Given the description of an element on the screen output the (x, y) to click on. 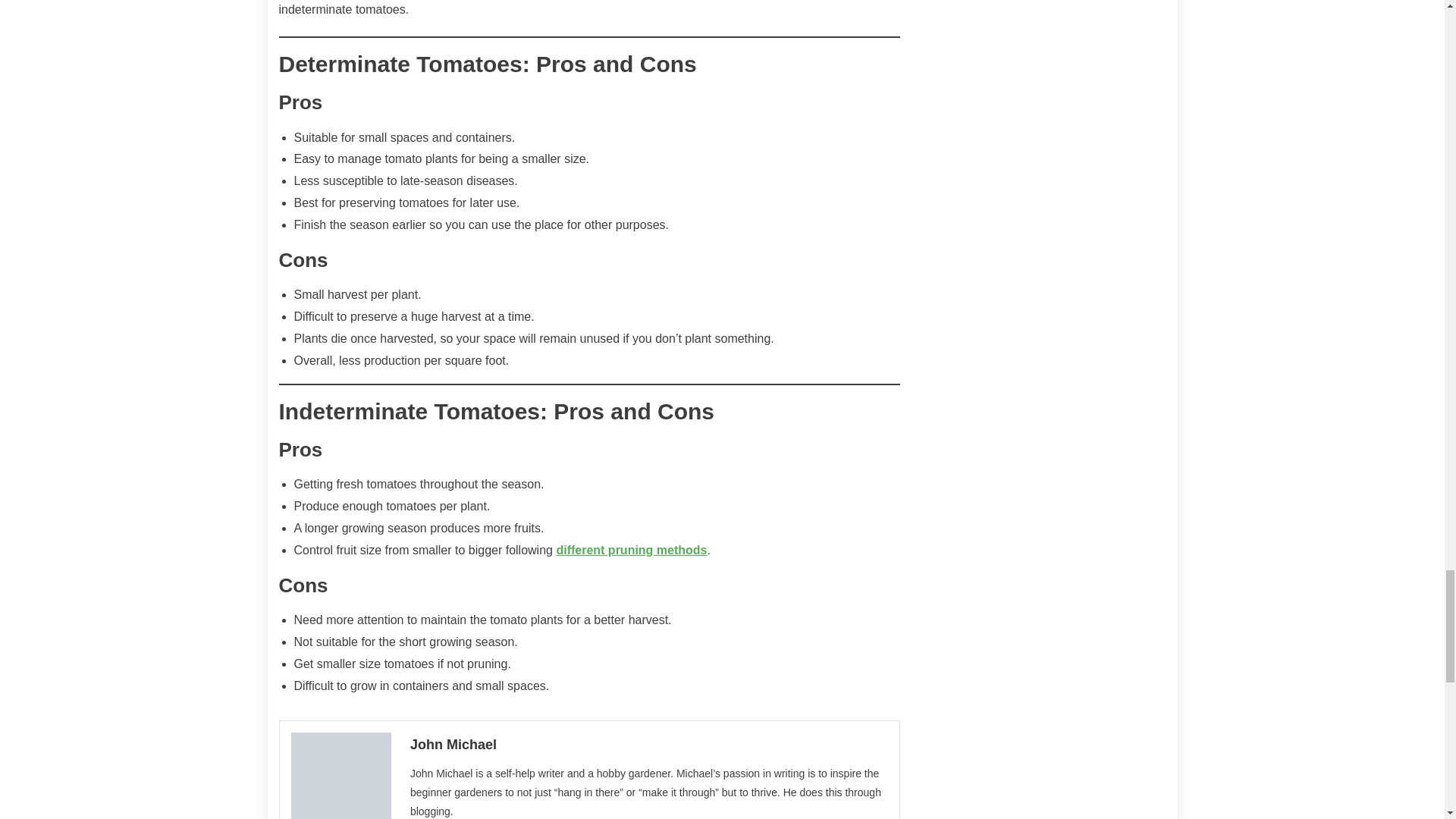
John Michael (649, 744)
different pruning methods (631, 549)
